Given the description of an element on the screen output the (x, y) to click on. 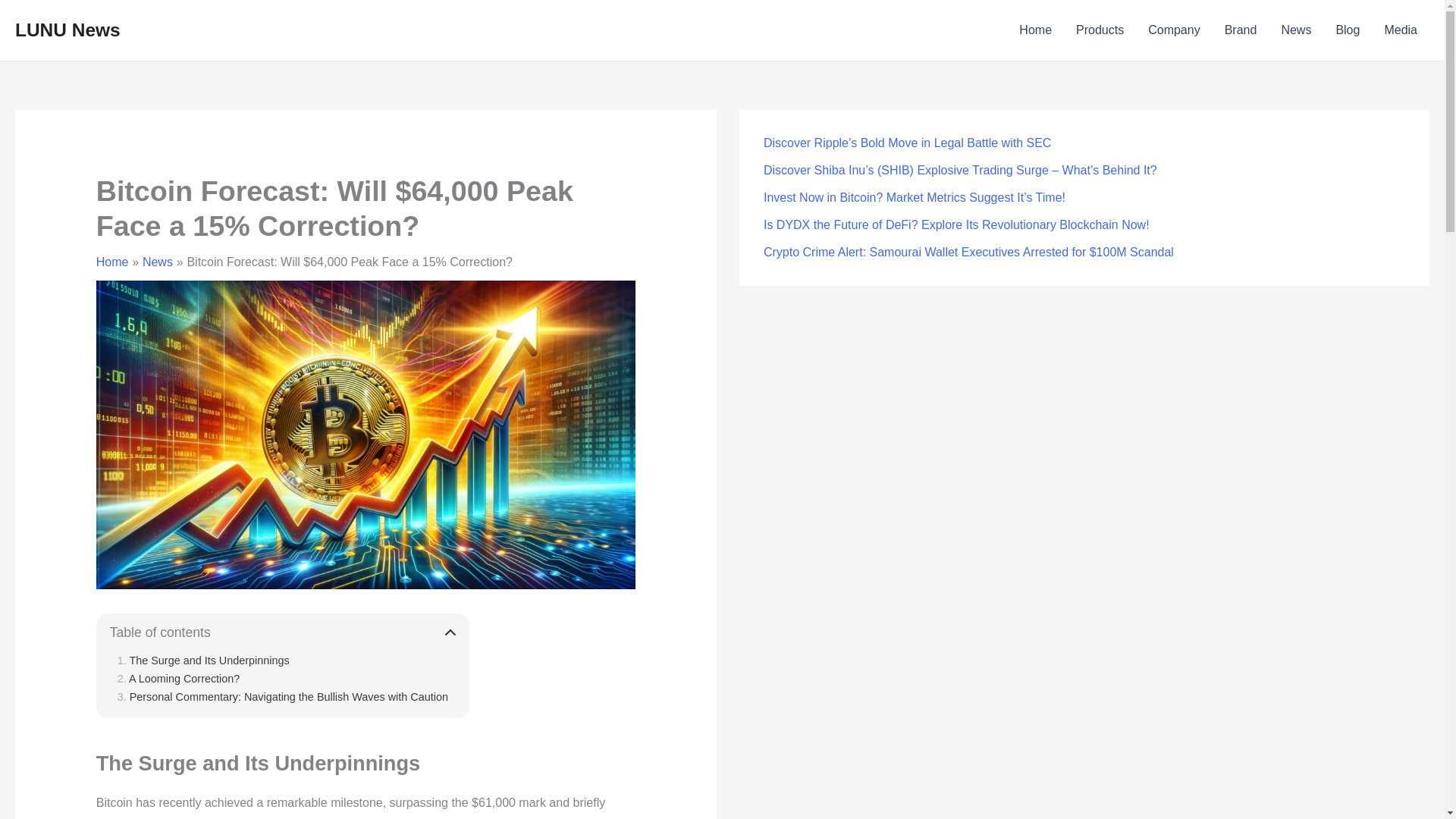
LUNU News (67, 29)
Media (1400, 30)
Home (1035, 30)
News (1295, 30)
Company (1173, 30)
Products (1099, 30)
The Surge and Its Underpinnings (203, 660)
News (157, 261)
Brand (1240, 30)
